Given the description of an element on the screen output the (x, y) to click on. 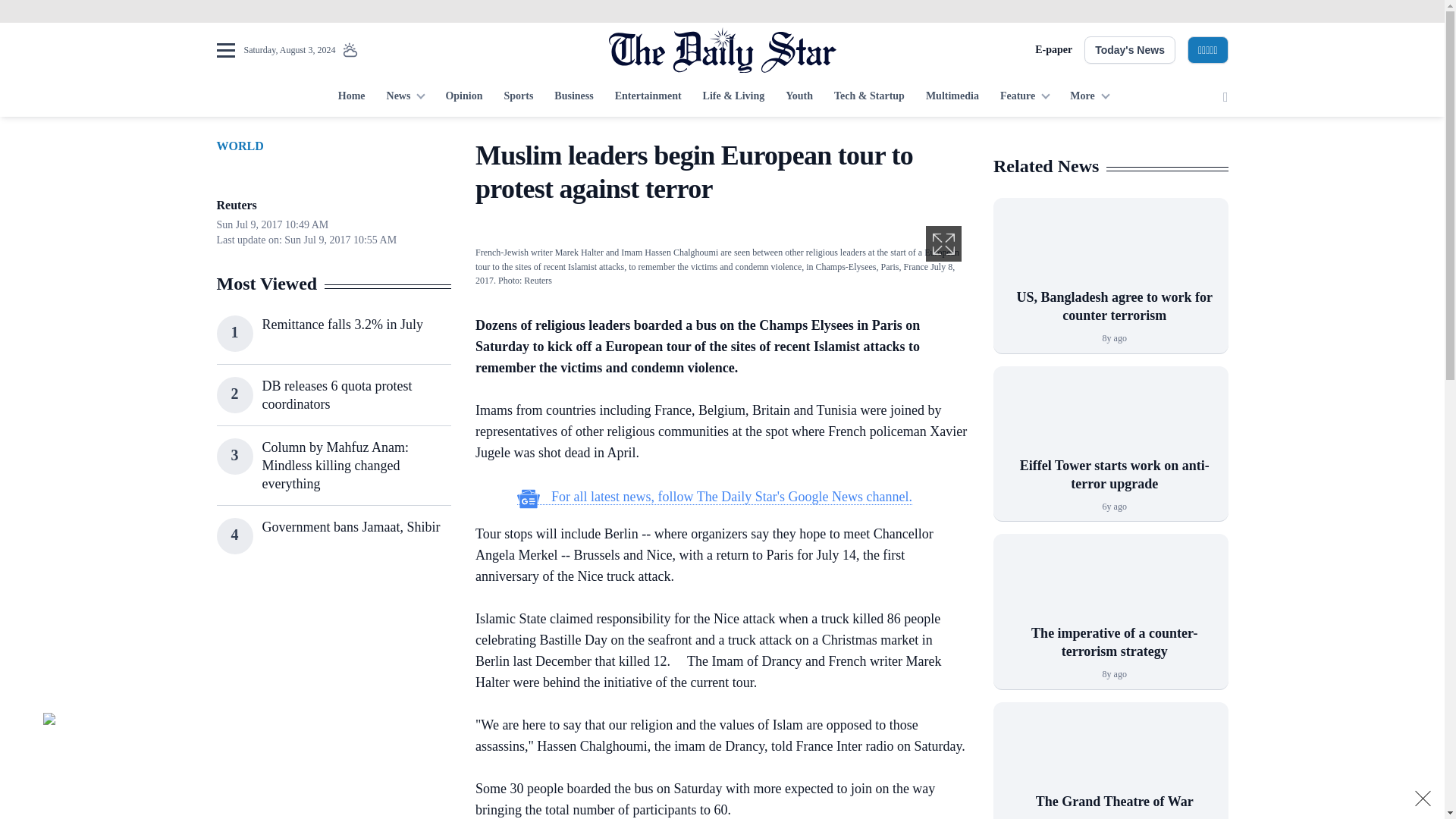
Feature (1024, 96)
News (405, 96)
Business (573, 96)
E-paper (1053, 49)
Opinion (463, 96)
Sports (518, 96)
Youth (799, 96)
Home (351, 96)
Multimedia (952, 96)
Entertainment (647, 96)
Today's News (1129, 49)
